Given the description of an element on the screen output the (x, y) to click on. 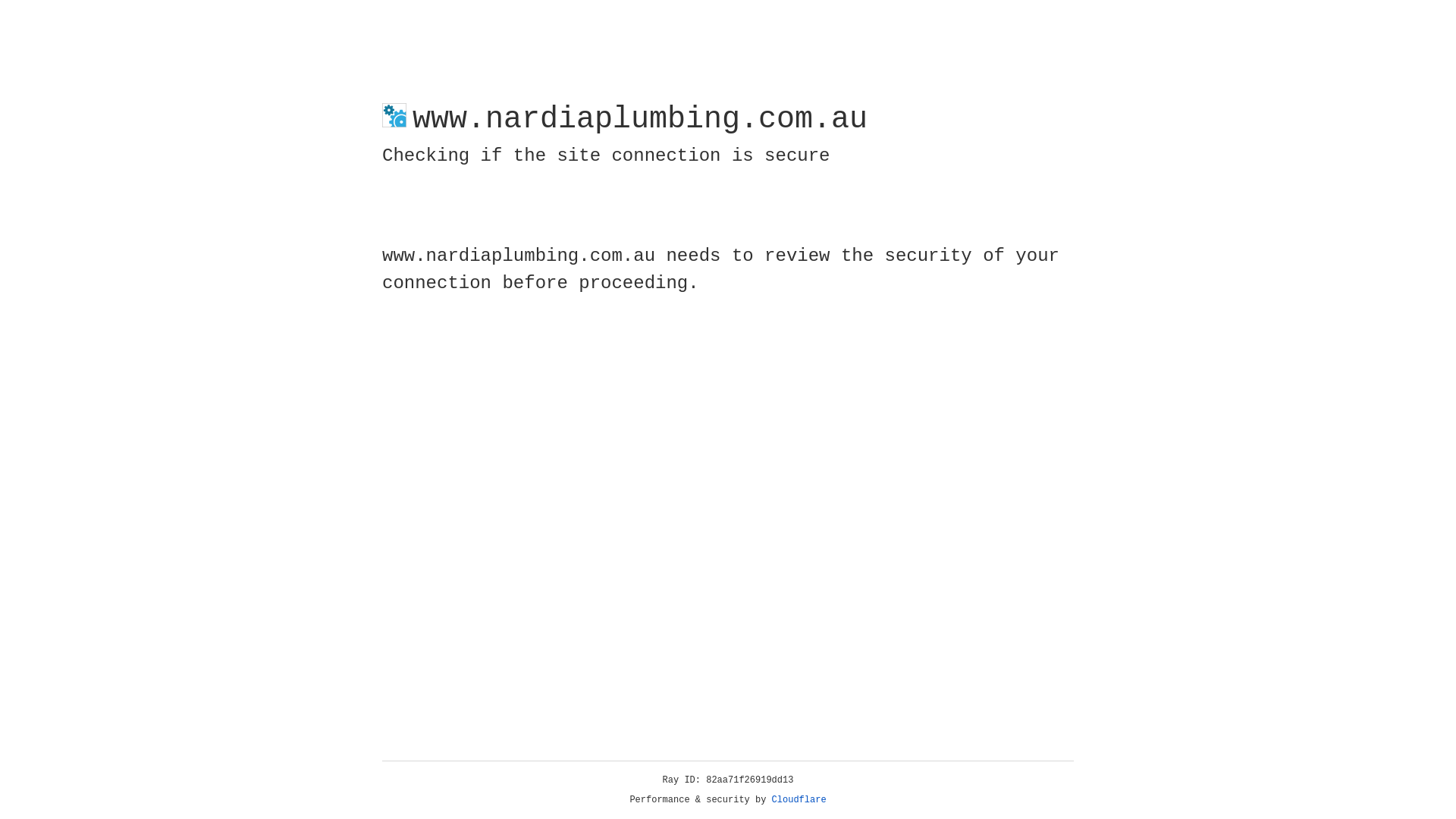
Cloudflare Element type: text (798, 799)
